Given the description of an element on the screen output the (x, y) to click on. 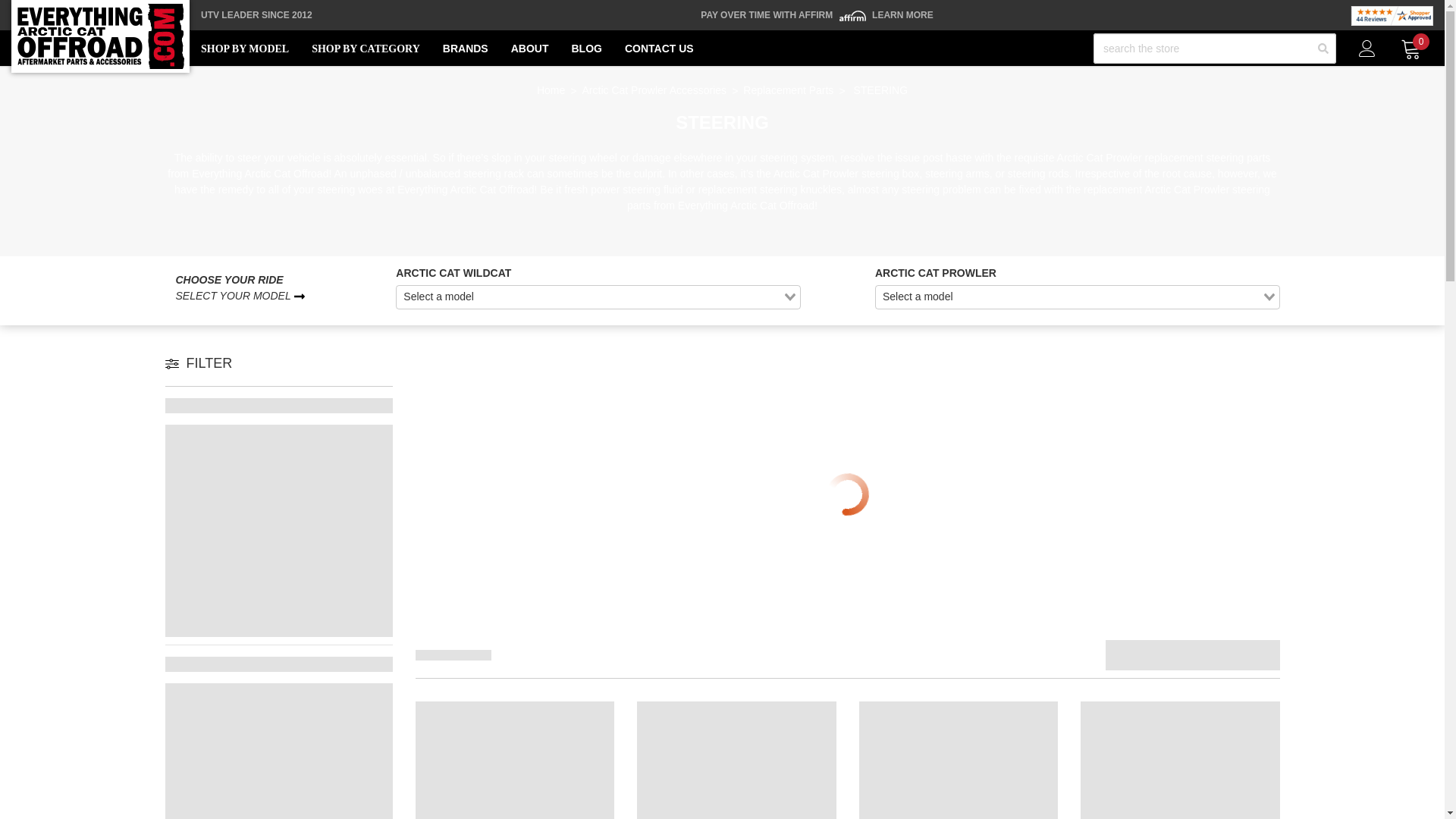
LEARN MORE (902, 14)
SHOP BY CATEGORY (365, 48)
Everything Arctic Cat Offroad (100, 36)
SHOP BY MODEL (244, 48)
UTV LEADER SINCE 2012 (256, 14)
